Given the description of an element on the screen output the (x, y) to click on. 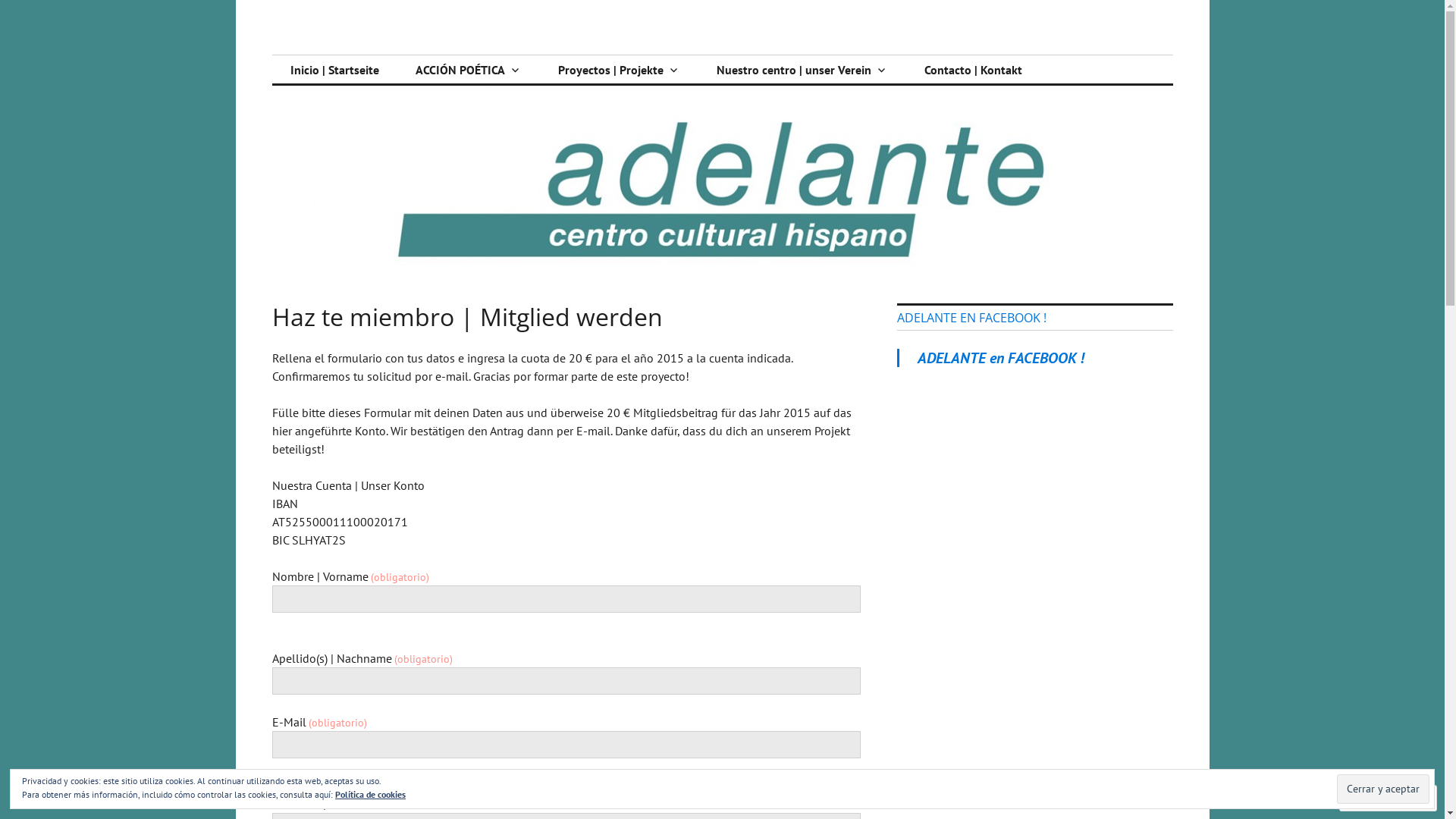
Proyectos | Projekte Element type: text (618, 69)
adelante Element type: text (332, 54)
ADELANTE EN FACEBOOK ! Element type: text (970, 317)
Inicio | Startseite Element type: text (333, 69)
ADELANTE en FACEBOOK ! Element type: text (1000, 357)
Seguir Element type: text (1373, 797)
Nuestro centro | unser Verein Element type: text (801, 69)
Contacto | Kontakt Element type: text (972, 69)
Cerrar y aceptar Element type: text (1382, 788)
